Given the description of an element on the screen output the (x, y) to click on. 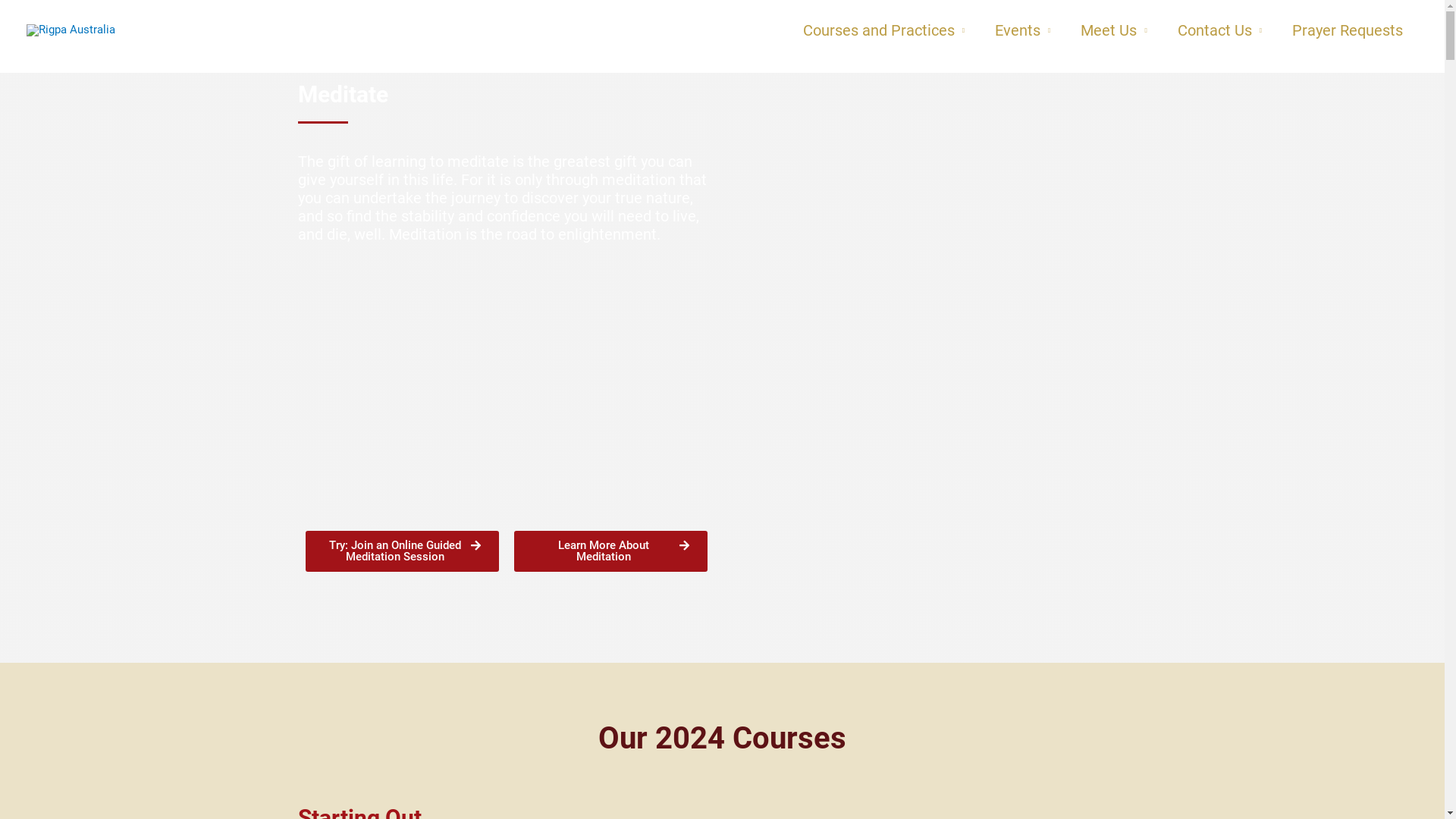
Try: Join an Online Guided Meditation Session Element type: text (401, 550)
Meet Us Element type: text (1113, 30)
Contact Us Element type: text (1219, 30)
Courses and Practices Element type: text (883, 30)
Events Element type: text (1022, 30)
Prayer Requests Element type: text (1347, 30)
Learn More About Meditation Element type: text (610, 550)
